Given the description of an element on the screen output the (x, y) to click on. 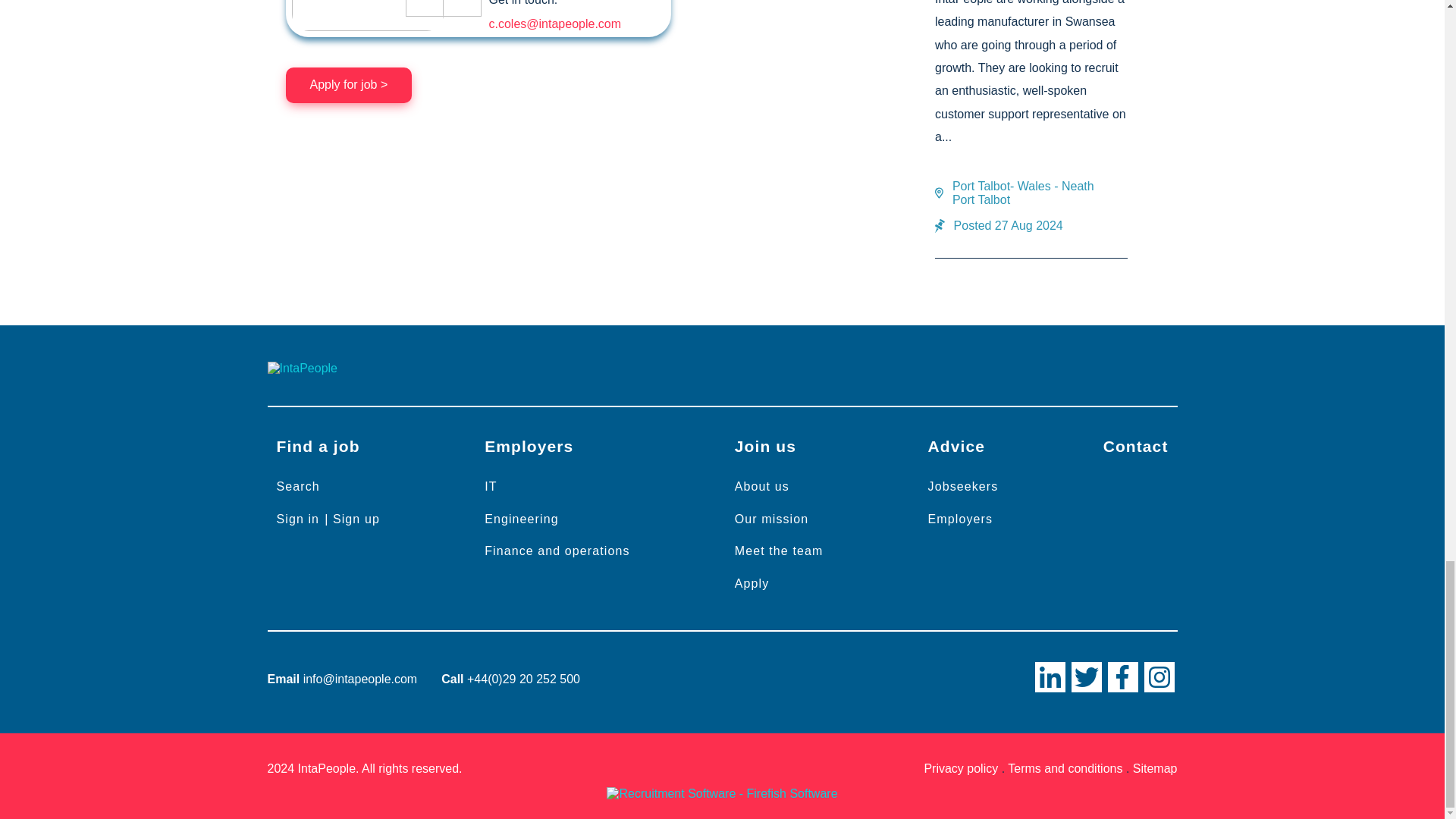
Recruitment Software - Firefish Software (722, 793)
About us (761, 486)
IT (490, 486)
Employers (529, 446)
LinkedIn (1048, 676)
Find a job (317, 446)
Apply (751, 583)
Engineering (521, 518)
Our mission (770, 518)
Finance and operations (557, 550)
